Given the description of an element on the screen output the (x, y) to click on. 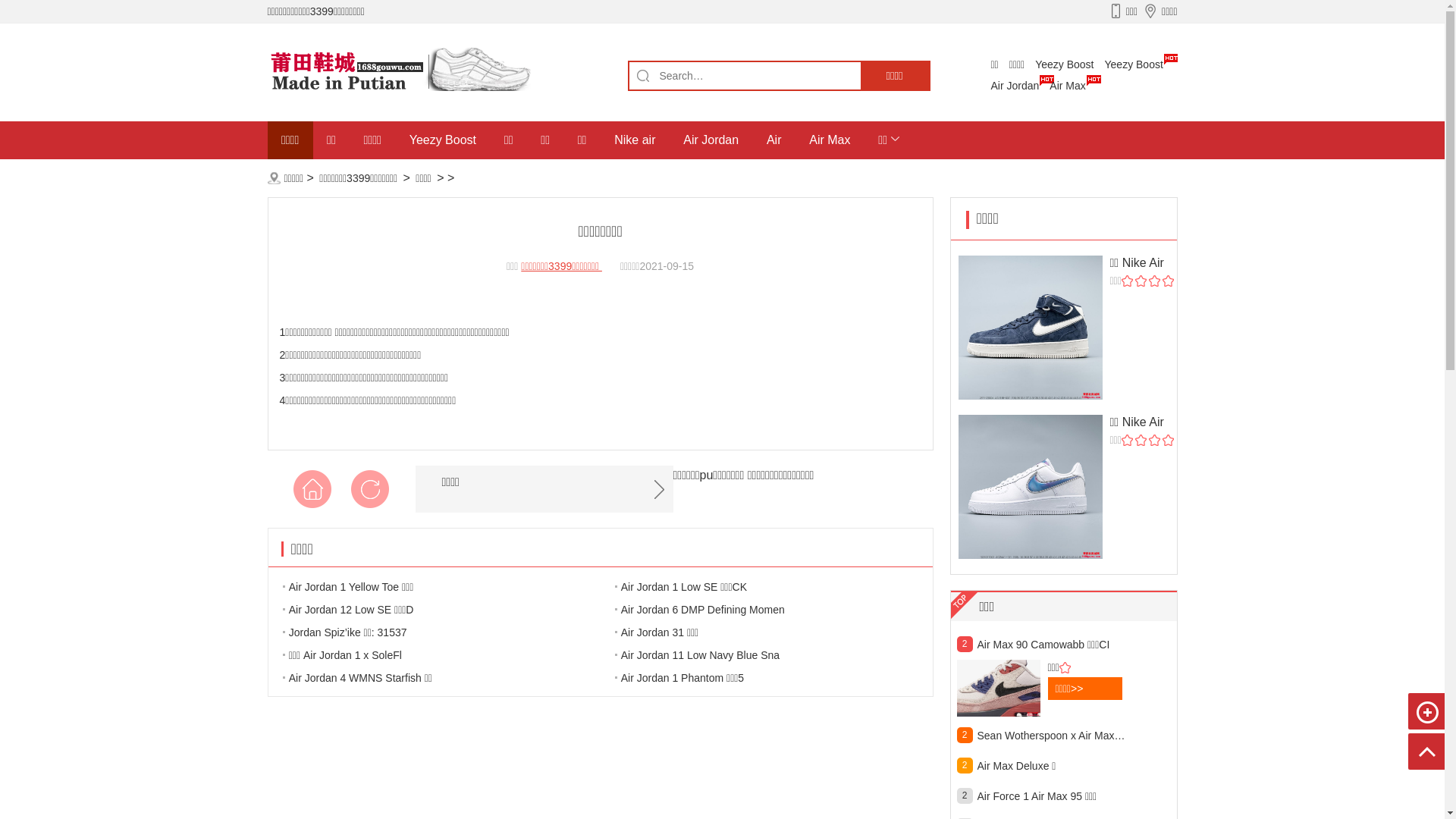
Yeezy Boost Element type: text (442, 140)
Sean Wotherspoon x Air Max 1/97 Element type: text (1051, 735)
Air Jordan 6 DMP Defining Momen Element type: text (721, 608)
Yeezy Boost Element type: text (1064, 64)
Air Max Element type: text (1067, 85)
Yeezy Boost Element type: text (1133, 64)
Air Max Element type: text (829, 140)
Nike air Element type: text (634, 140)
Air Element type: text (774, 140)
Air Jordan 11 Low Navy Blue Sna Element type: text (721, 654)
Air Jordan Element type: text (711, 140)
Air Jordan Element type: text (1014, 85)
